Given the description of an element on the screen output the (x, y) to click on. 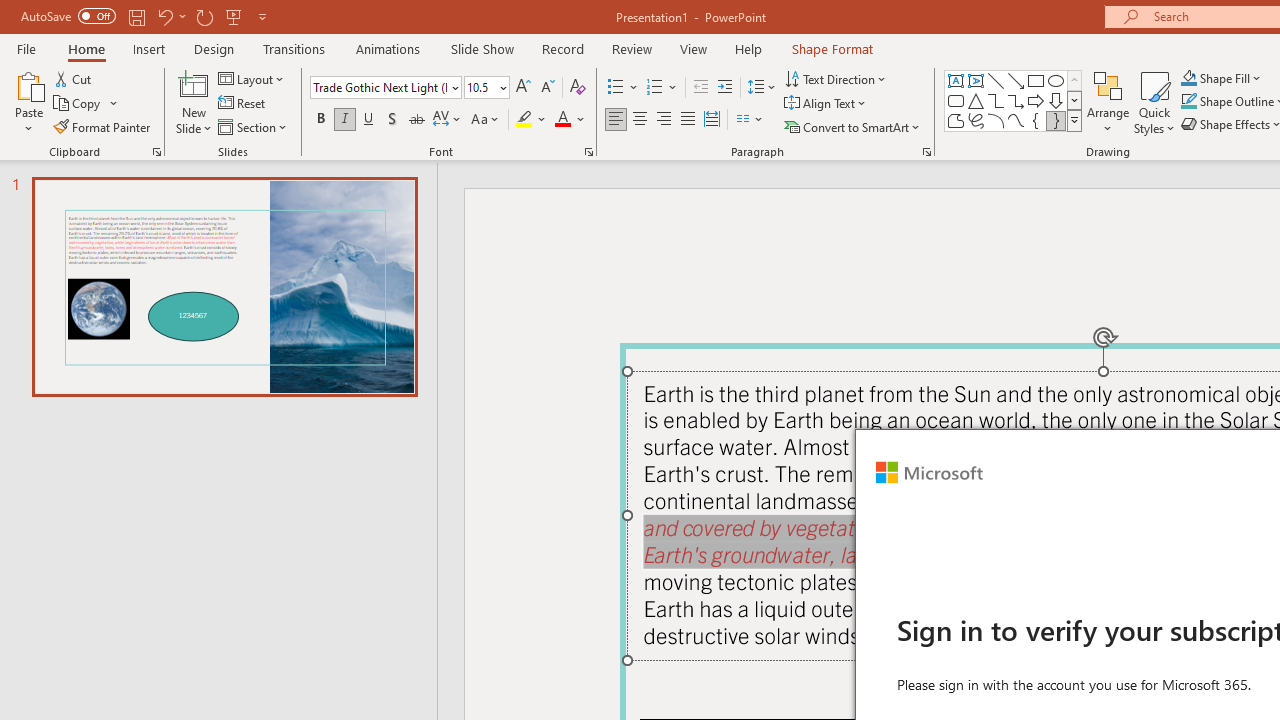
Shadow (392, 119)
Reset (243, 103)
Arrow: Right (1035, 100)
Decrease Font Size (547, 87)
Bold (320, 119)
